Given the description of an element on the screen output the (x, y) to click on. 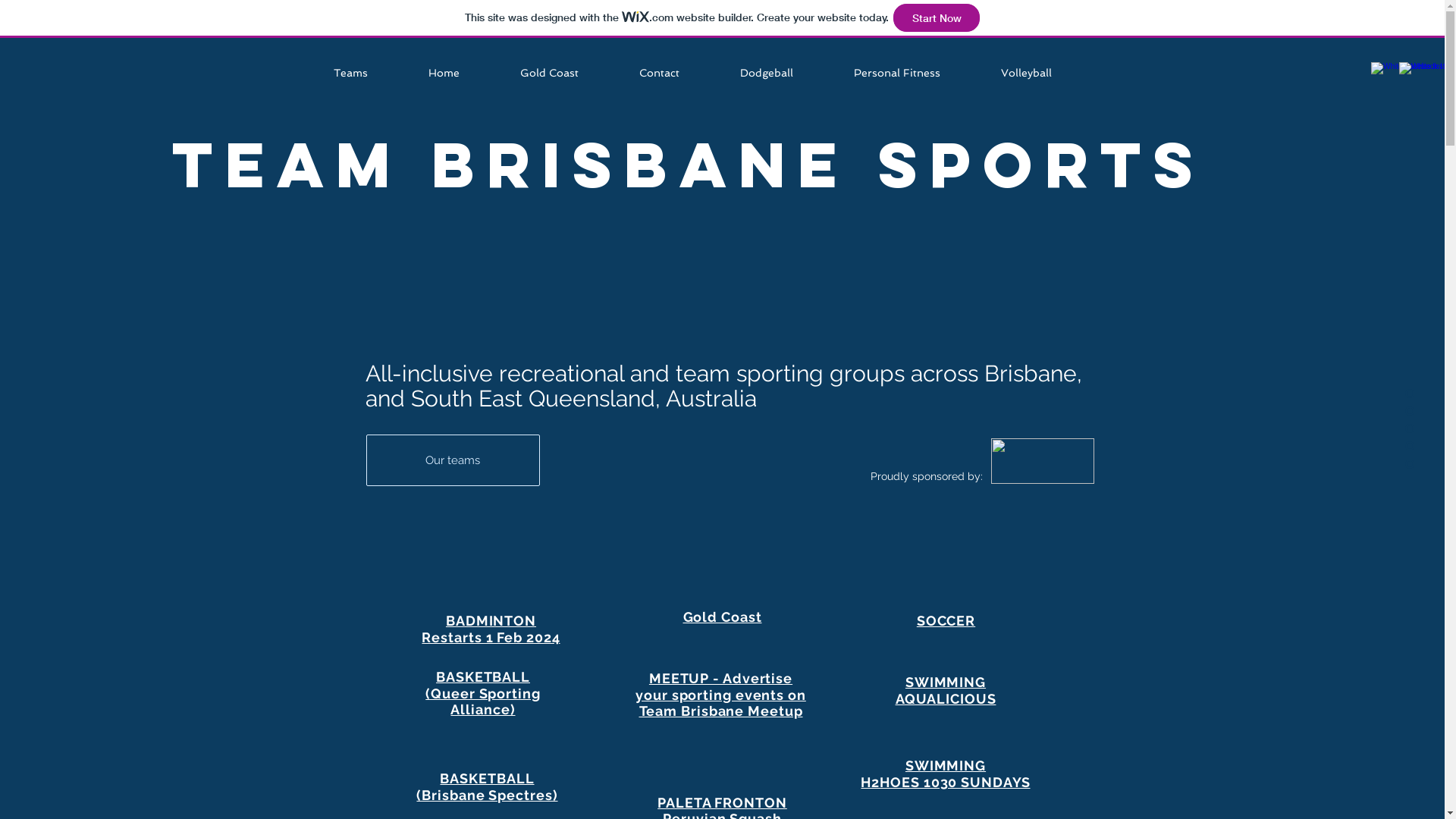
(Queer Sporting Alliance) Element type: text (482, 701)
Contact Element type: text (677, 72)
Personal Fitness Element type: text (914, 72)
Home Element type: text (462, 72)
BASKETBALL Element type: text (483, 676)
Volleyball Element type: text (1044, 72)
SOCCER Element type: text (945, 620)
Teams Element type: text (368, 72)
AQUALICIOUS Element type: text (945, 698)
Our teams Element type: text (452, 460)
Gold Coast Element type: text (567, 72)
Gold Coast Element type: text (721, 616)
H2HOES 1030 SUNDAYS Element type: text (944, 782)
BASKETBALL (Brisbane Spectres) Element type: text (486, 786)
PALETA FRONTON Element type: text (722, 802)
SWIMMING Element type: text (945, 682)
SWIMMING Element type: text (945, 765)
BADMINTON Element type: text (490, 620)
Dodgeball Element type: text (784, 72)
